Given the description of an element on the screen output the (x, y) to click on. 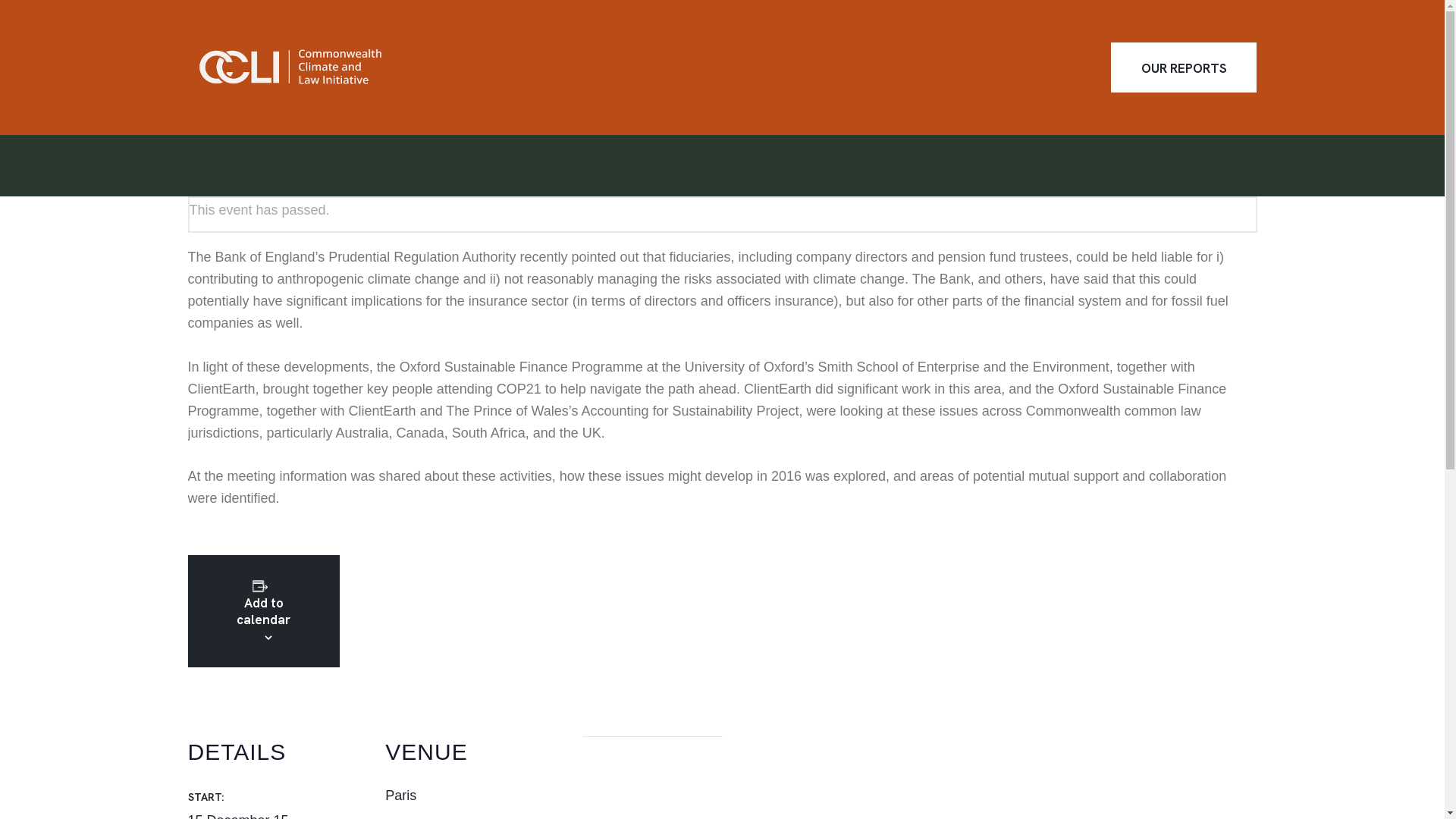
OUR REPORTS (1183, 67)
2015-12-15 (237, 816)
Add to calendar (262, 611)
